Given the description of an element on the screen output the (x, y) to click on. 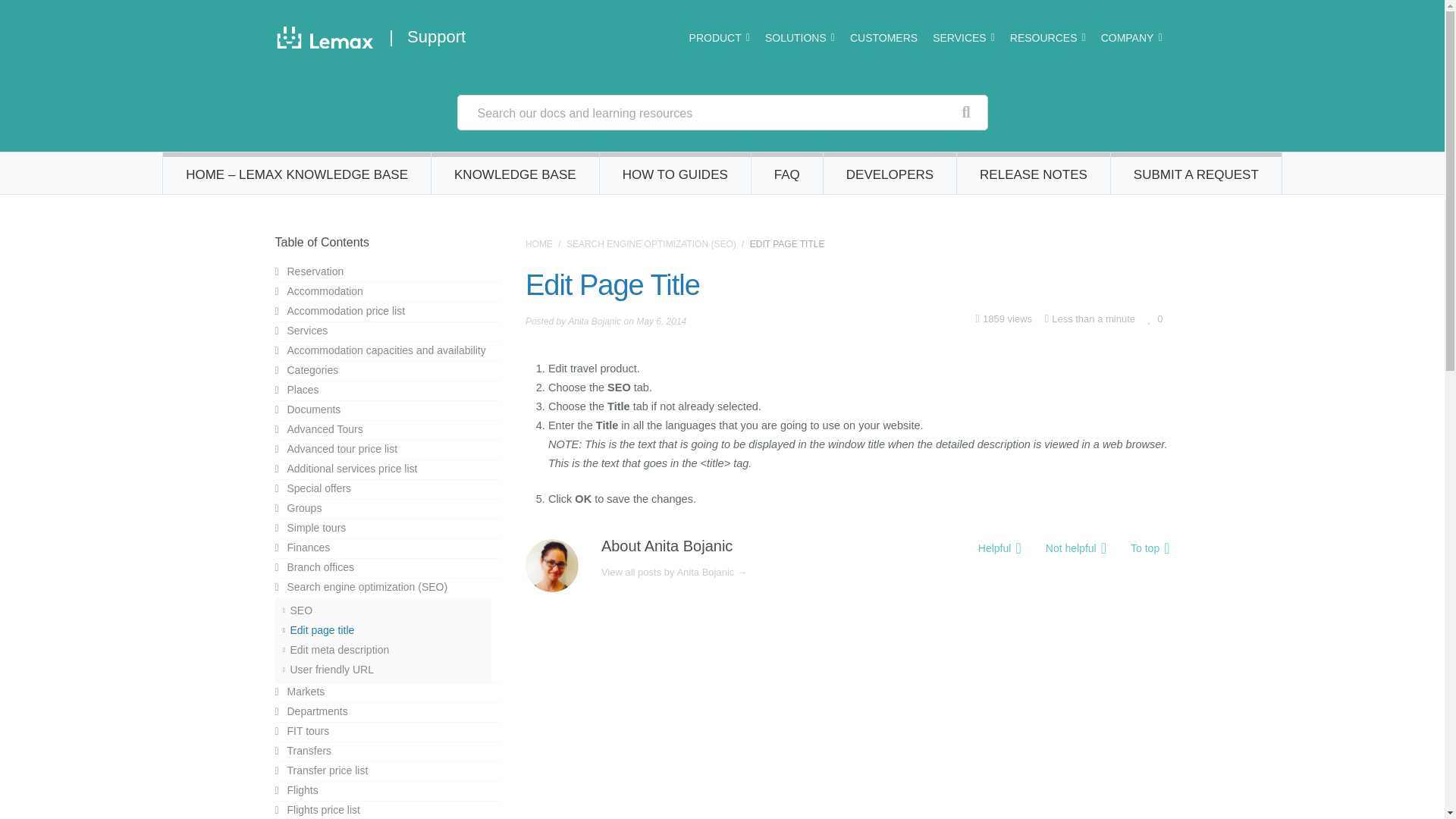
KNOWLEDGE BASE (514, 173)
FAQ (787, 173)
SERVICES (963, 37)
COMPANY (1131, 37)
RESOURCES (1048, 37)
Support (436, 36)
Like this (1155, 318)
Lemax Knowledge Base (539, 244)
Lemax Knowledge Base (324, 40)
HOW TO GUIDES (675, 173)
SOLUTIONS (800, 37)
CUSTOMERS (883, 37)
PRODUCT (719, 37)
